Given the description of an element on the screen output the (x, y) to click on. 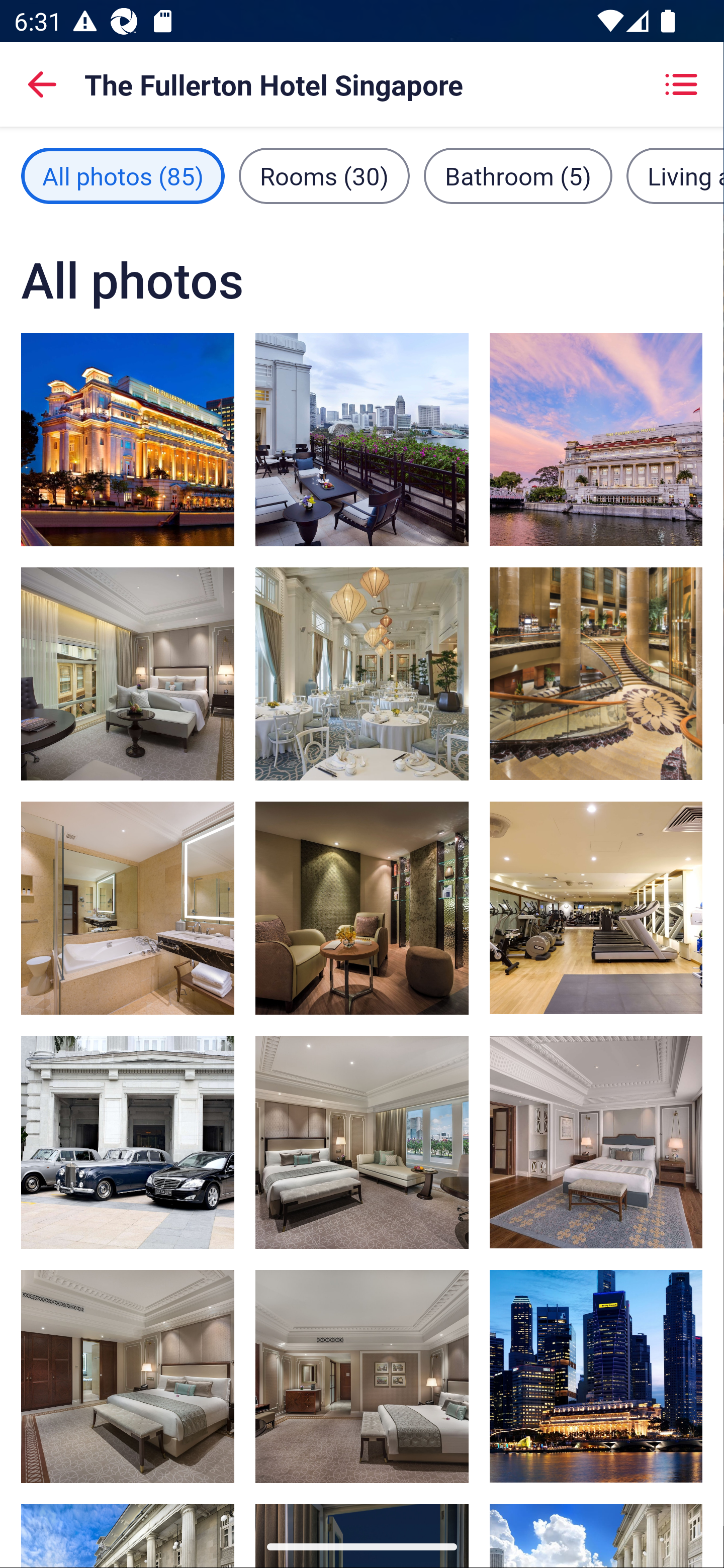
Back (42, 84)
Showing grid view (681, 84)
All photos filter, 85 images (122, 175)
Rooms filter, 30 images (323, 175)
Bathroom filter, 5 images (517, 175)
Exterior, image (127, 438)
Exterior, image (595, 438)
Restaurant, image (361, 673)
Reception, image (595, 673)
Gym, image (595, 907)
Exterior, image (127, 1142)
Exterior, image (595, 1376)
